Given the description of an element on the screen output the (x, y) to click on. 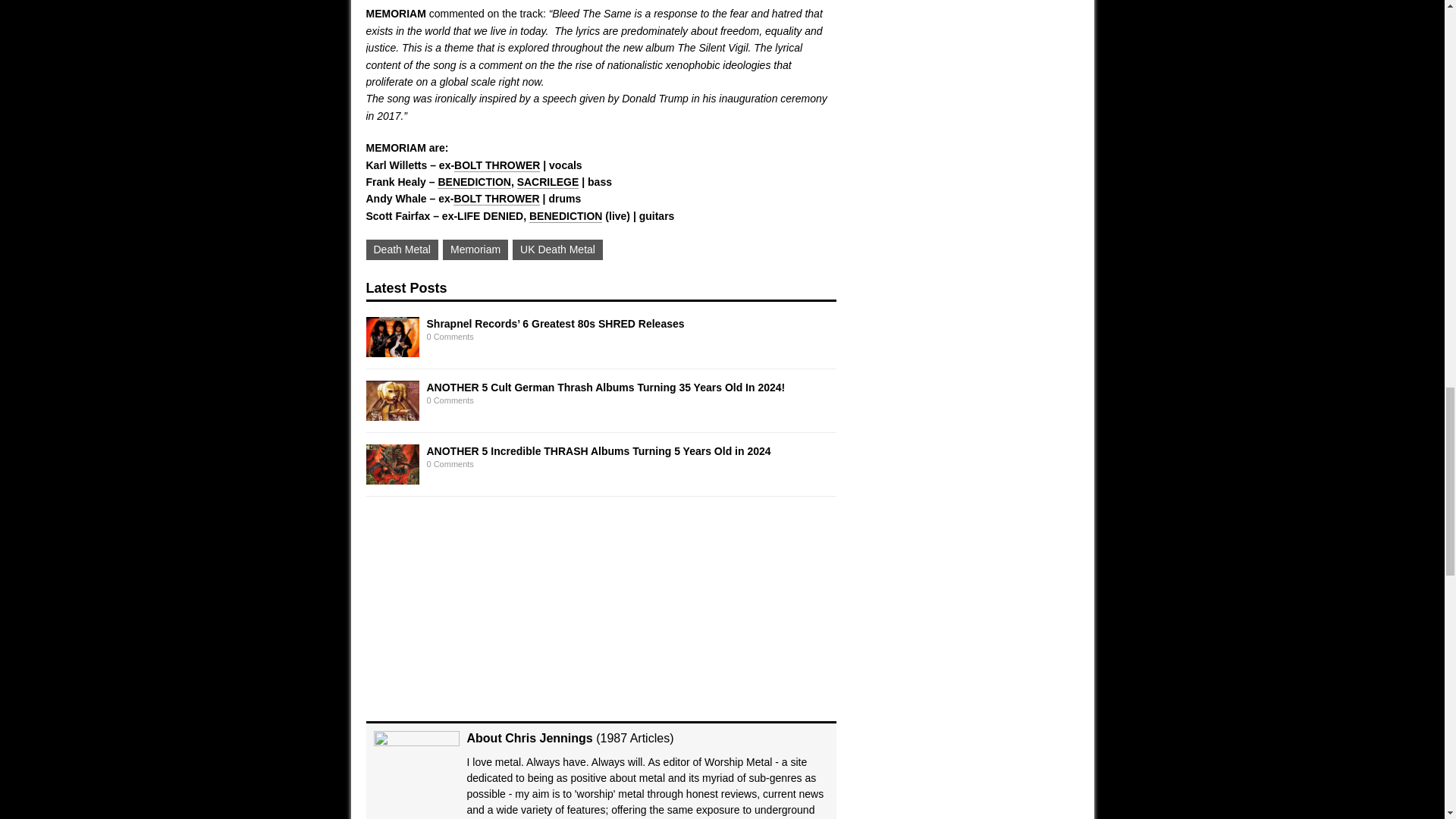
Death Metal (401, 249)
UK Death Metal (557, 249)
BOLT THROWER (497, 164)
SACRILEGE (547, 182)
BENEDICTION (565, 215)
BENEDICTION (474, 182)
Memoriam (475, 249)
BOLT THROWER (495, 198)
